Given the description of an element on the screen output the (x, y) to click on. 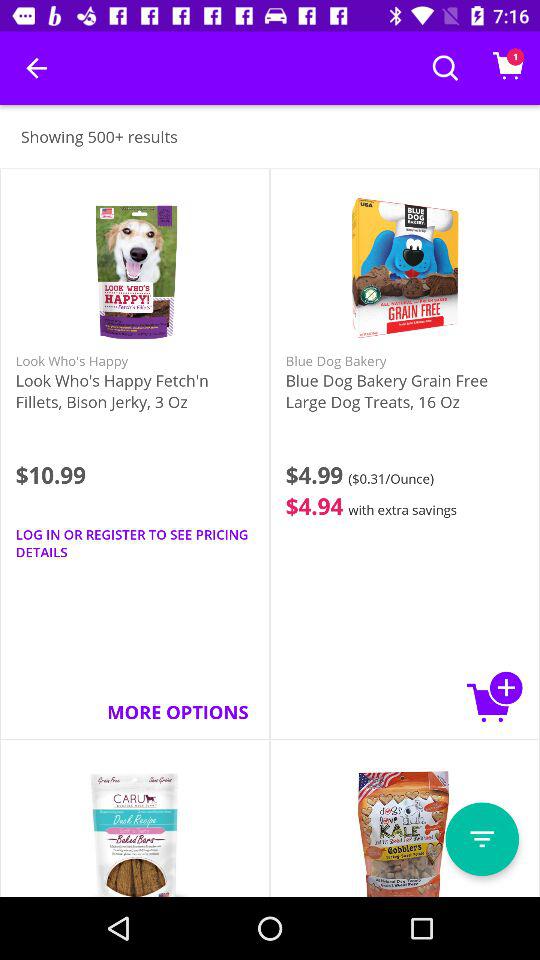
add to cart (495, 696)
